Given the description of an element on the screen output the (x, y) to click on. 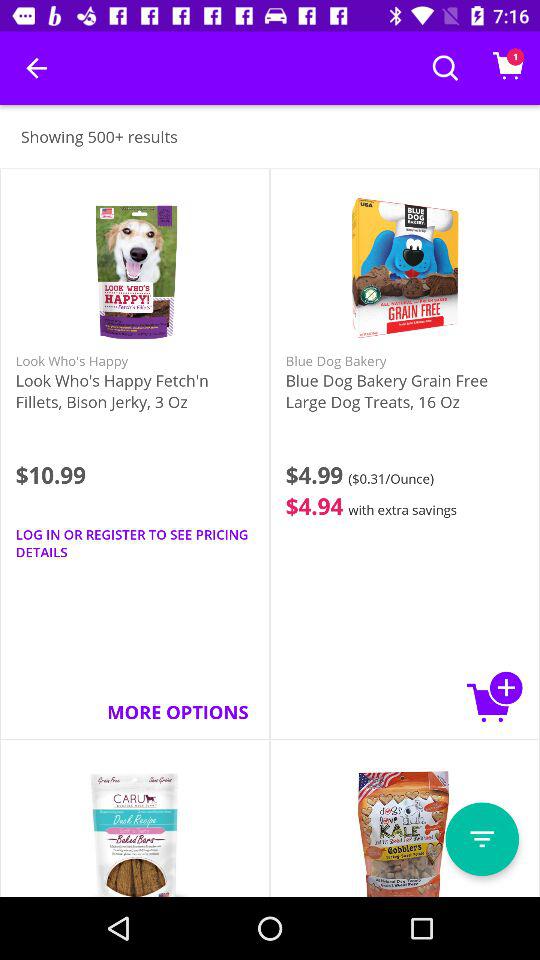
add to cart (495, 696)
